Given the description of an element on the screen output the (x, y) to click on. 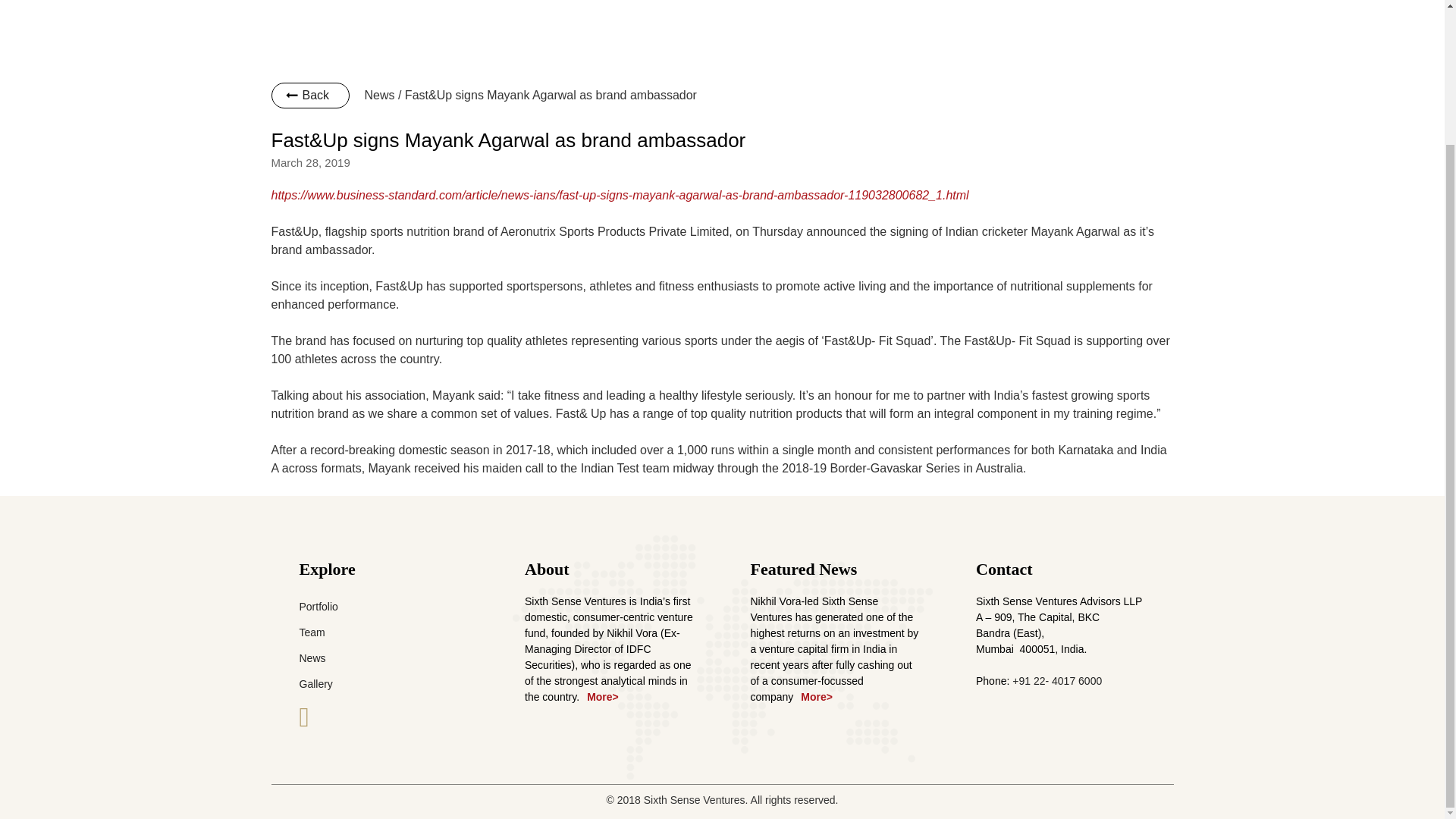
Featured News (804, 568)
Portfolio (317, 606)
Contact (1003, 568)
News (311, 657)
Back (310, 95)
Gallery (314, 684)
About (546, 568)
Team (311, 632)
